Given the description of an element on the screen output the (x, y) to click on. 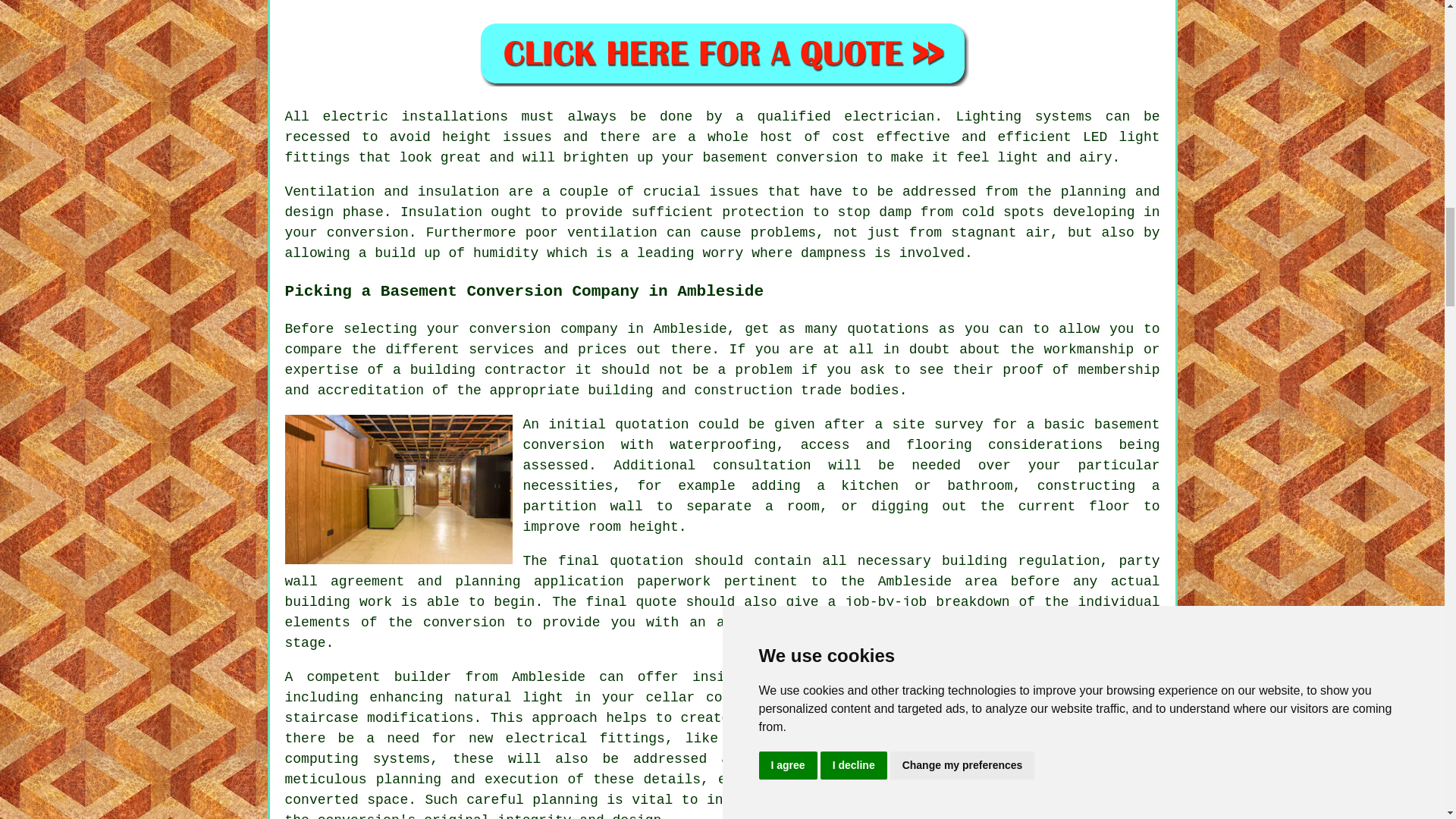
Cellar Conversion Specialist Quotes in Ambleside Cumbria (722, 52)
cellar conversion (716, 697)
